Given the description of an element on the screen output the (x, y) to click on. 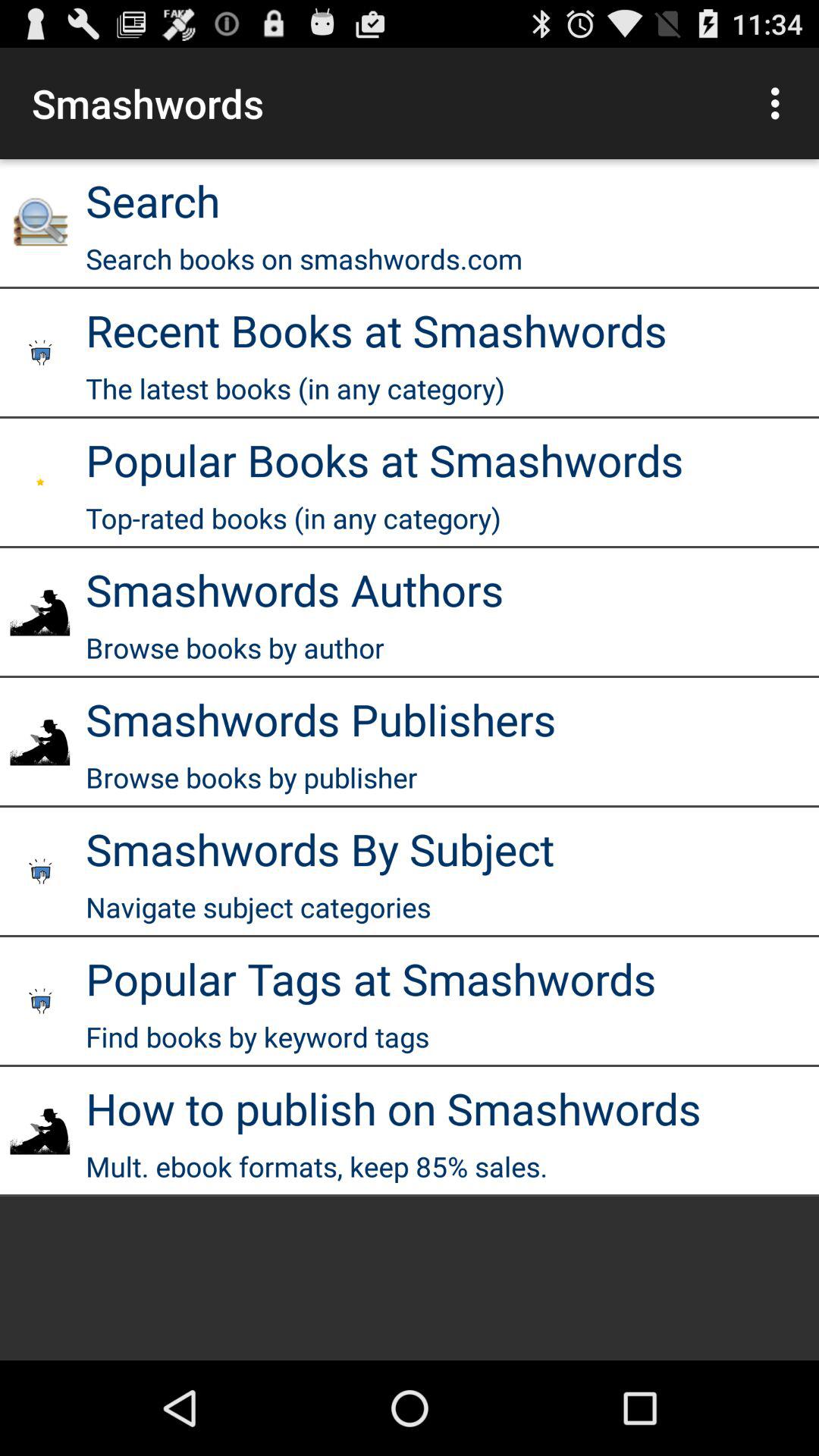
press navigate subject categories icon (258, 906)
